Given the description of an element on the screen output the (x, y) to click on. 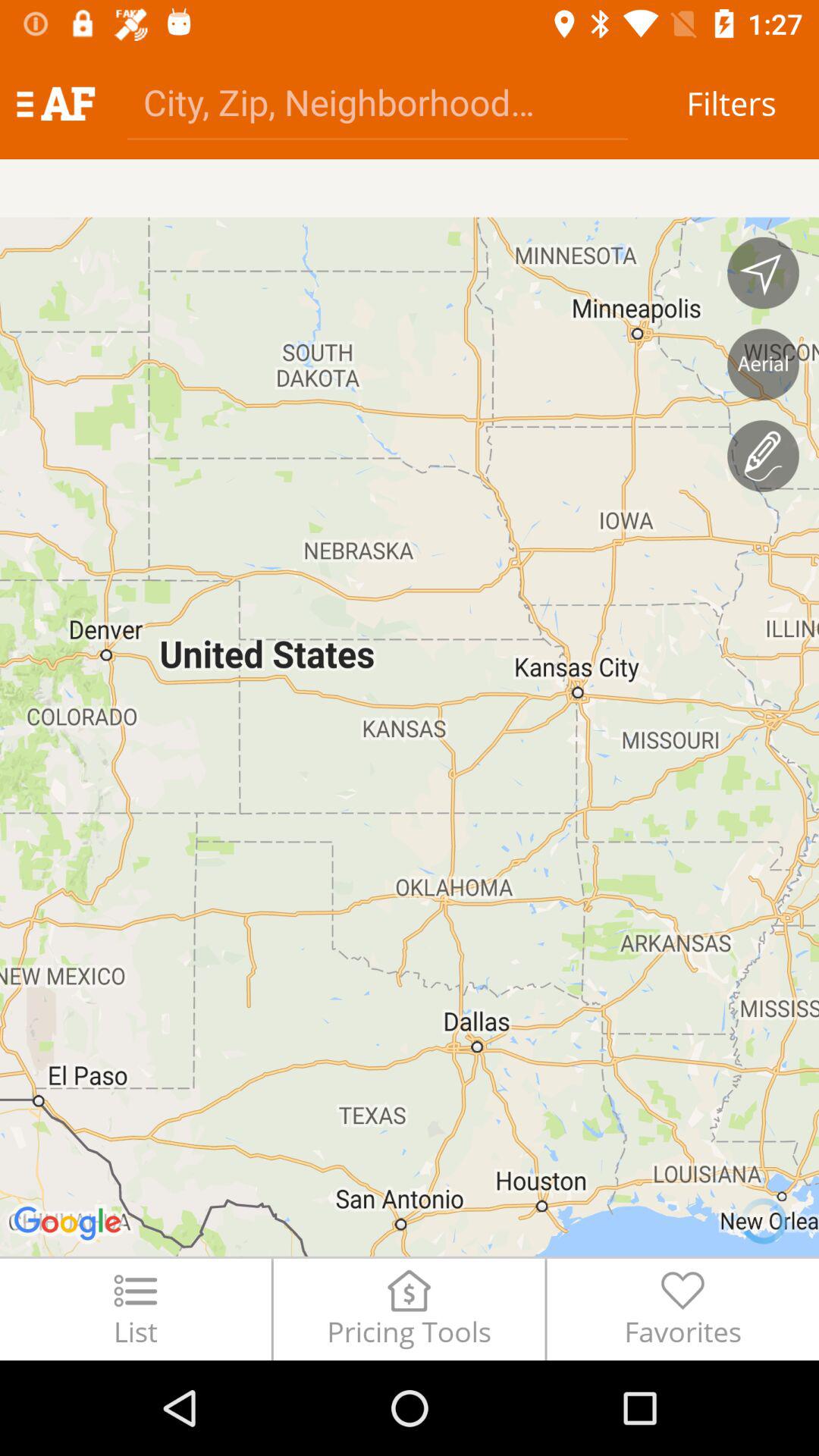
to sail (763, 272)
